Given the description of an element on the screen output the (x, y) to click on. 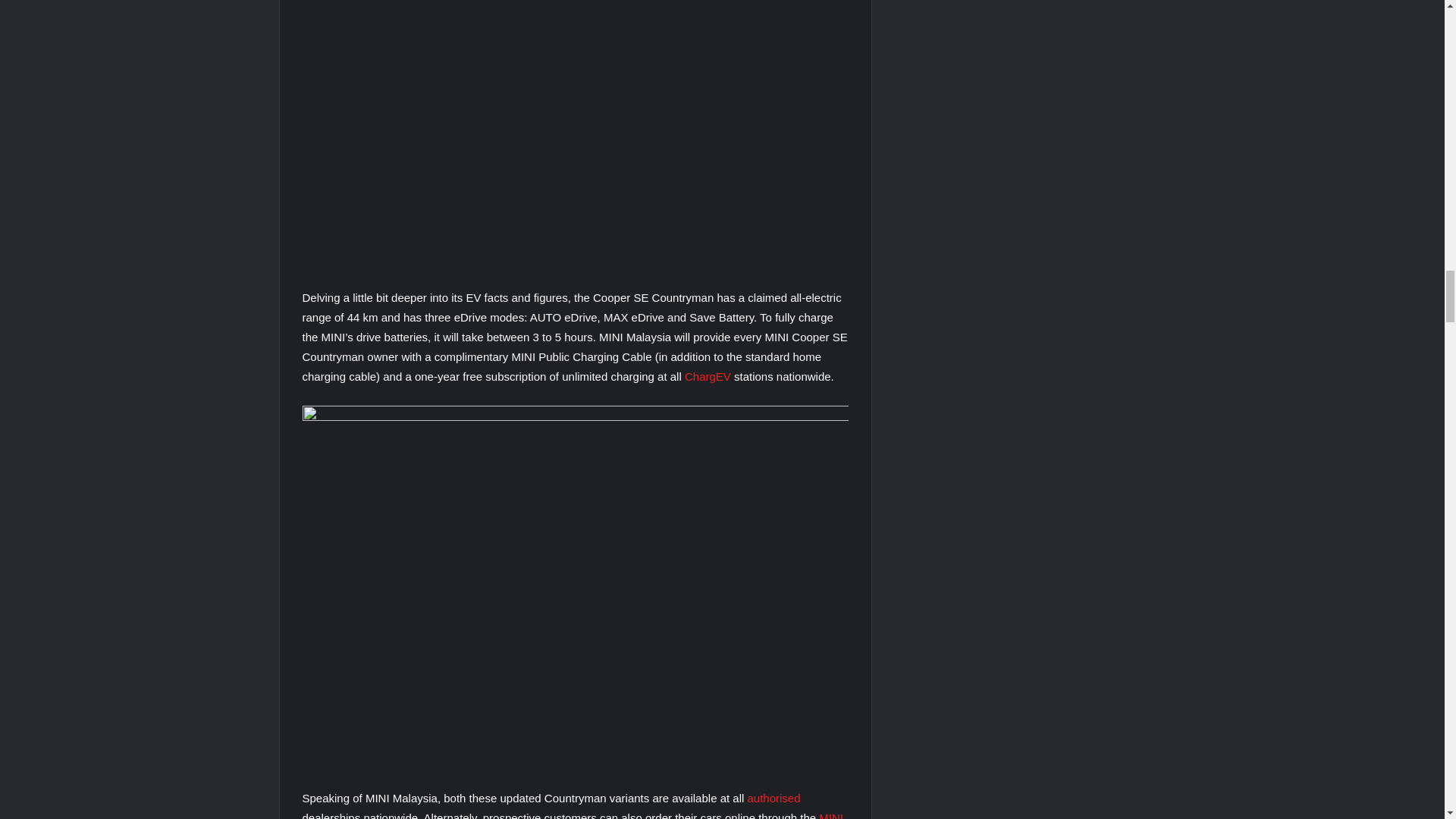
ChargEV (707, 376)
authorised (774, 797)
MINI Online Shop (572, 815)
